Given the description of an element on the screen output the (x, y) to click on. 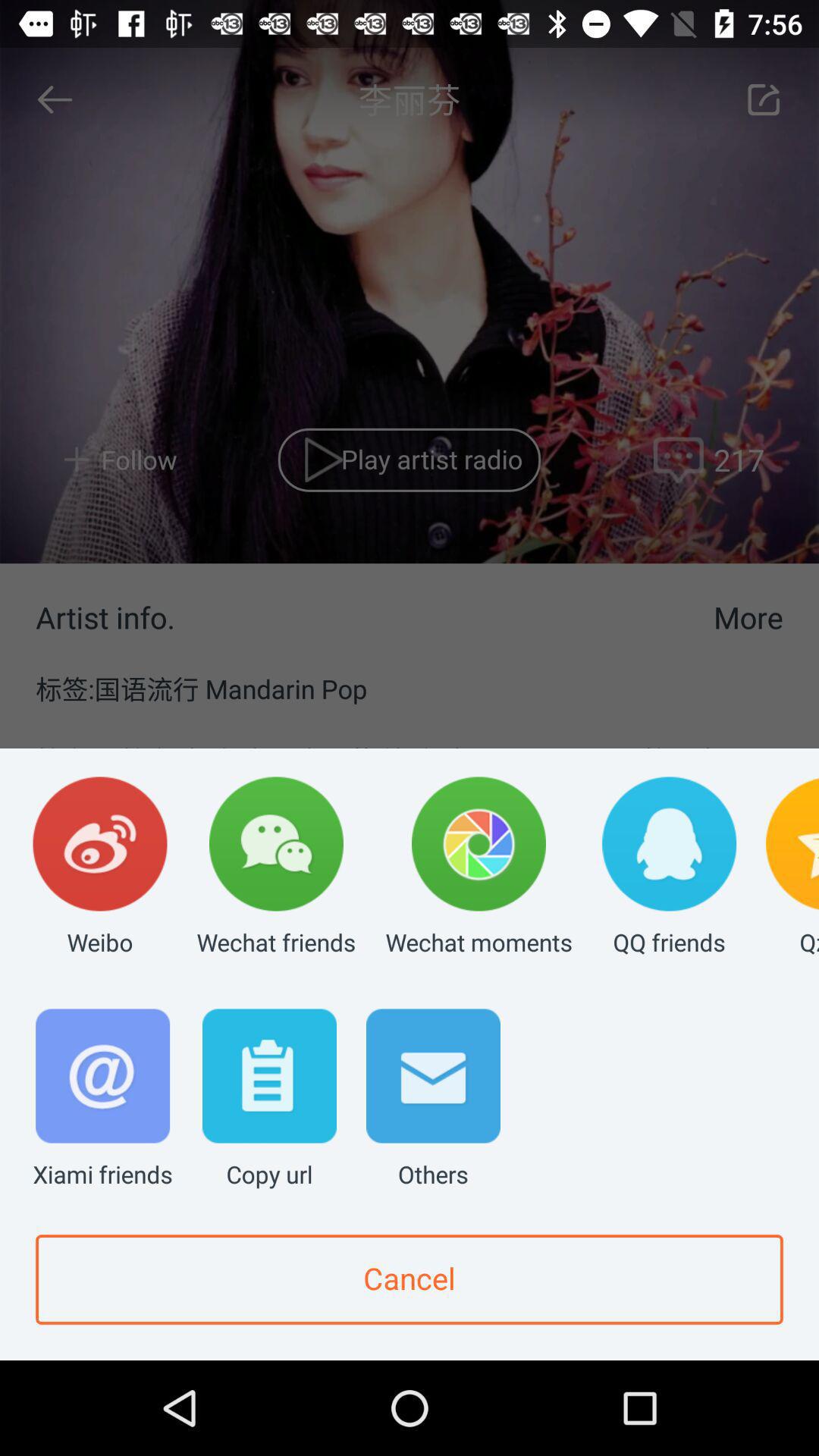
tap the item next to the qq friends app (478, 867)
